Given the description of an element on the screen output the (x, y) to click on. 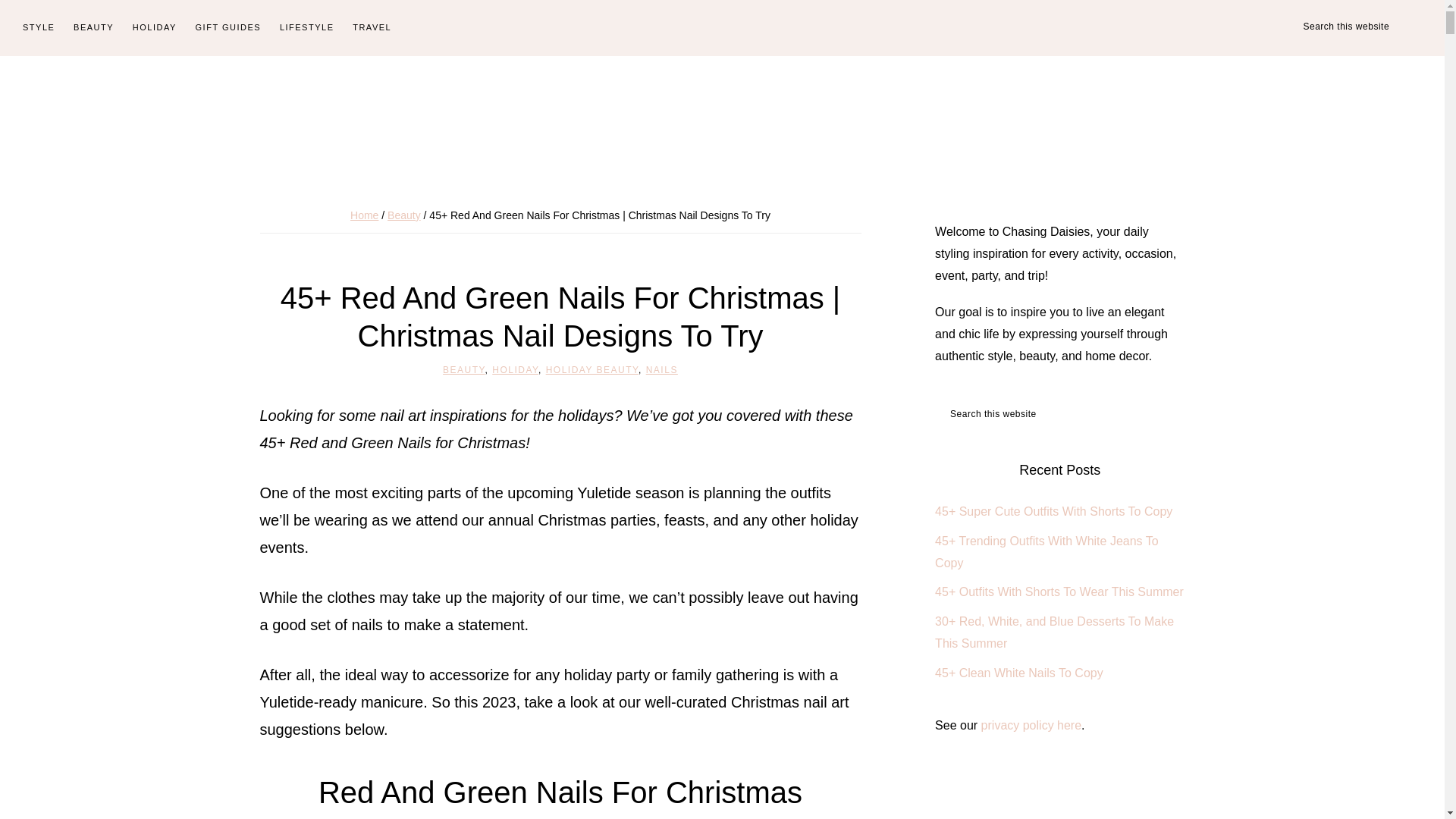
BEAUTY (92, 27)
Beauty (403, 215)
GIFT GUIDES (228, 27)
HOLIDAY (515, 369)
TRAVEL (371, 27)
Home (364, 215)
LIFESTYLE (307, 27)
HOLIDAY (154, 27)
STYLE (38, 27)
